Given the description of an element on the screen output the (x, y) to click on. 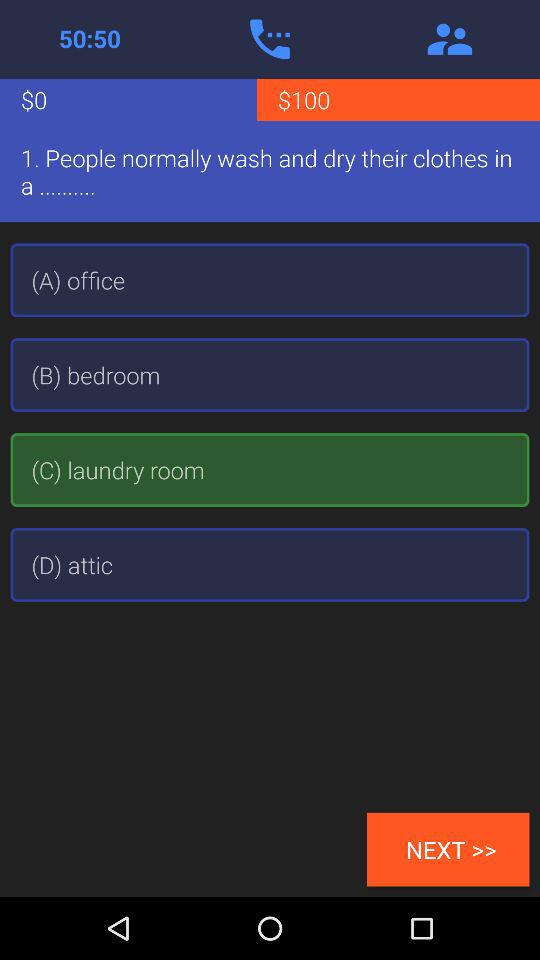
turn on the    next >>   icon (448, 849)
